Given the description of an element on the screen output the (x, y) to click on. 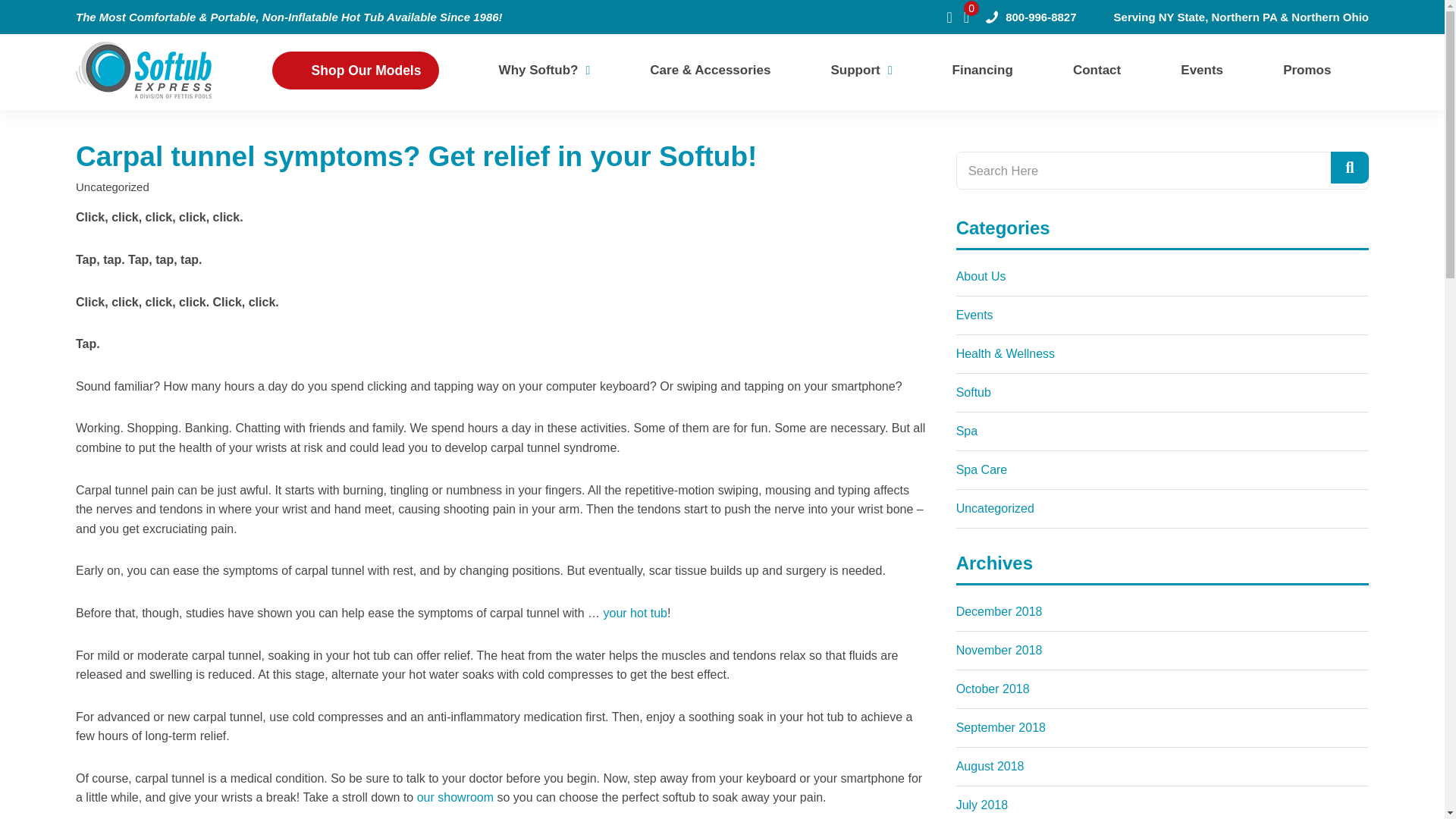
Contact (1097, 70)
Support (855, 70)
Softub (1162, 392)
About Us (1162, 276)
your hot tub (636, 613)
800-996-8827 (1030, 16)
our showroom (454, 797)
Shop Our Models (355, 70)
Events (1201, 70)
Promos (1306, 70)
